Given the description of an element on the screen output the (x, y) to click on. 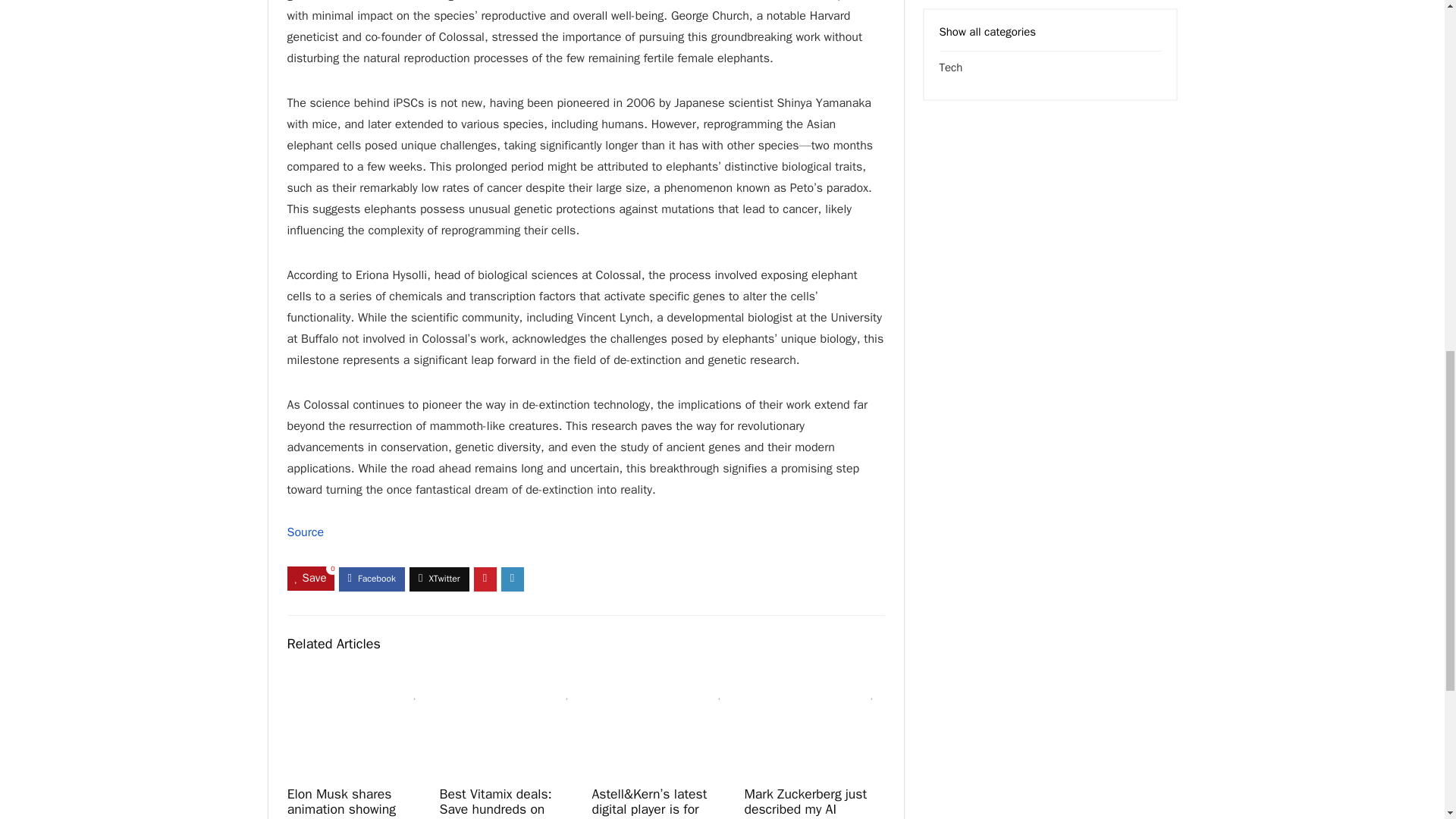
Source (304, 531)
Elon Musk shares animation showing Starship catch and stack (341, 802)
